Given the description of an element on the screen output the (x, y) to click on. 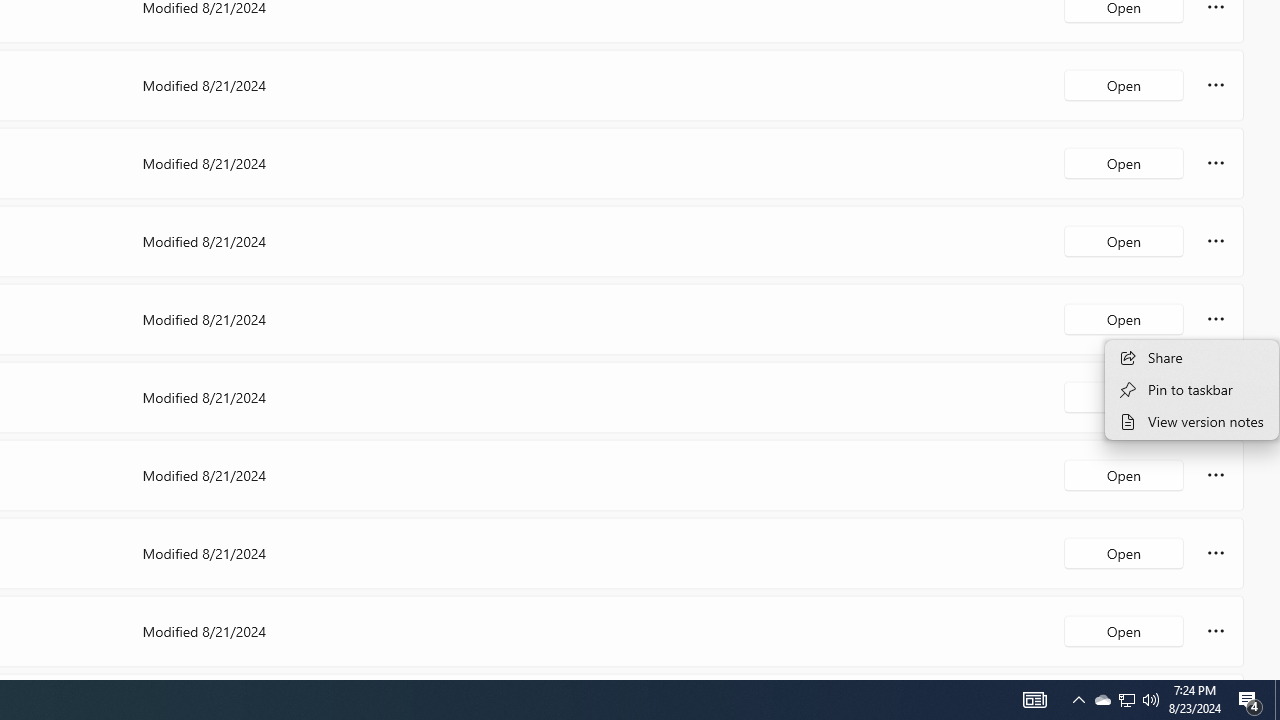
Open (1123, 630)
More options (1215, 630)
